Given the description of an element on the screen output the (x, y) to click on. 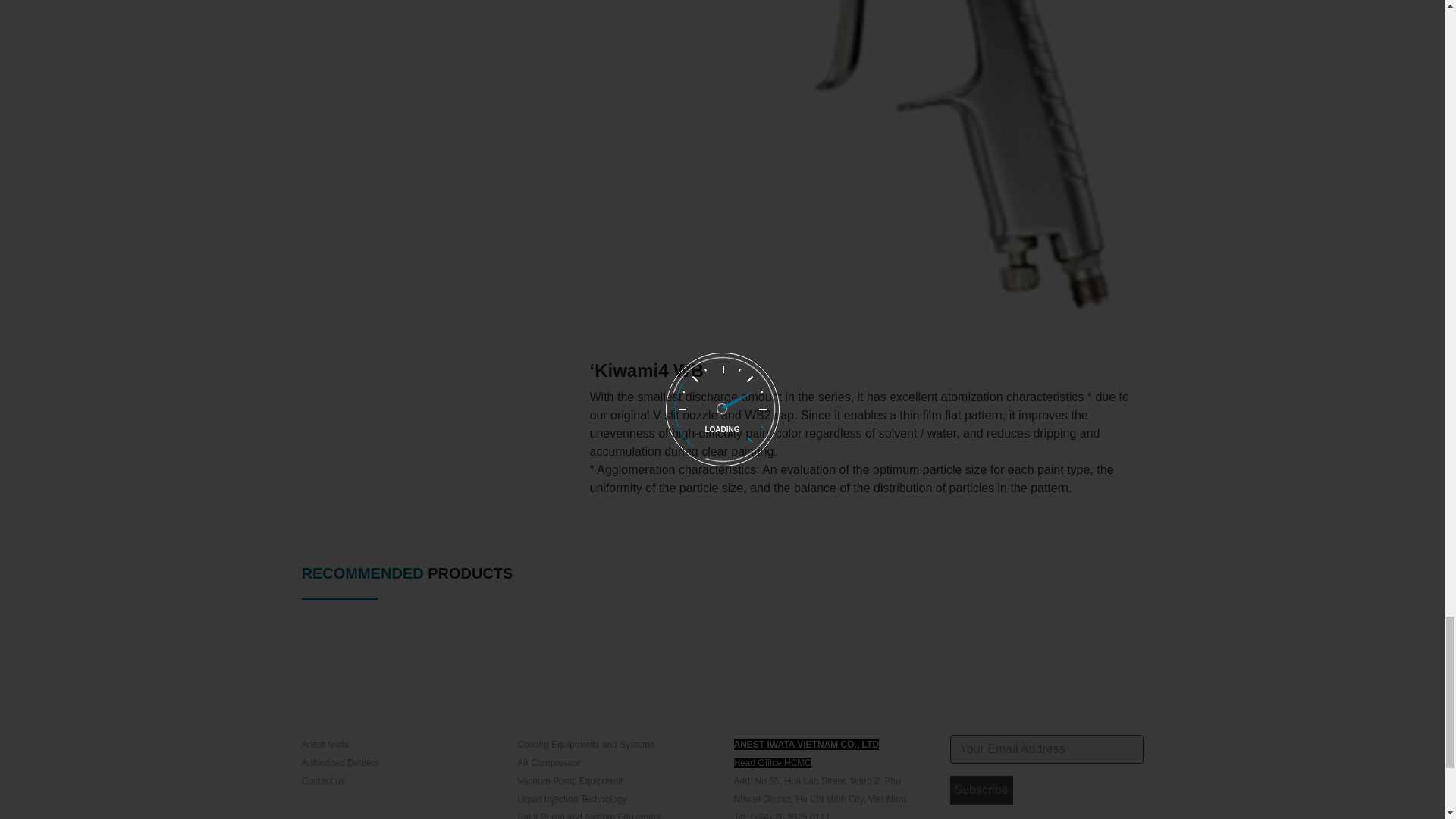
Air Compressor (547, 762)
Liquid Injection Technology (571, 798)
Vacuum Pump Equipment (569, 780)
Paint Pump and System Equipment (588, 815)
Coating Equipments and Systems (584, 744)
Subscribe (980, 789)
Anest Iwata (325, 744)
Contact us (323, 780)
Authorized Dealers (339, 762)
